Given the description of an element on the screen output the (x, y) to click on. 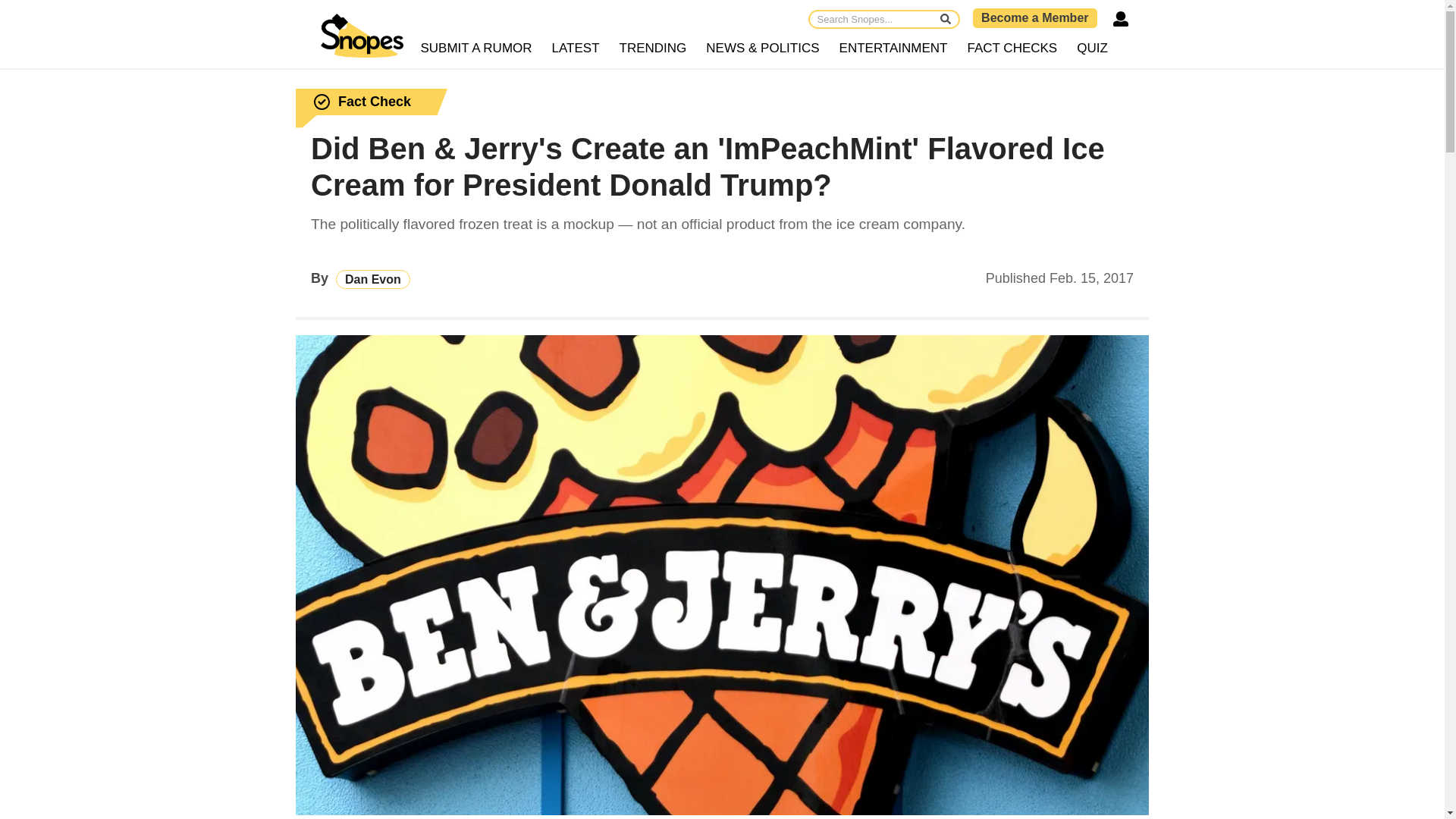
QUIZ (1092, 47)
TRENDING (653, 47)
LATEST (576, 47)
SUBMIT A RUMOR (475, 47)
Dan Evon (373, 279)
ENTERTAINMENT (893, 47)
Become a Member (1034, 17)
FACT CHECKS (1011, 47)
